Given the description of an element on the screen output the (x, y) to click on. 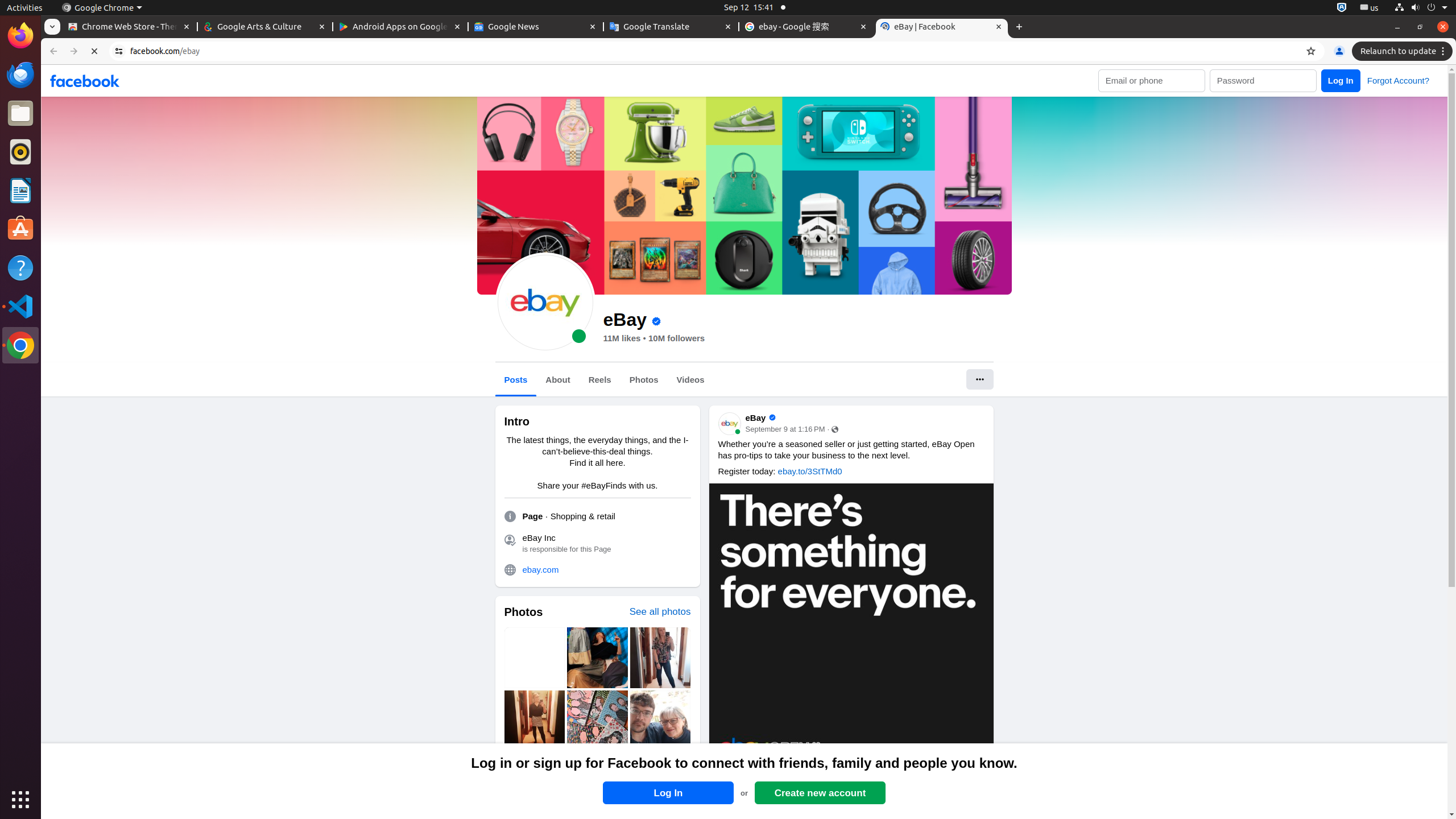
About Element type: page-tab (557, 379)
105 Element type: push-button (948, 779)
:1.21/StatusNotifierItem Element type: menu (1369, 7)
Relaunch to update Element type: push-button (1403, 50)
System Element type: menu (1420, 7)
